Given the description of an element on the screen output the (x, y) to click on. 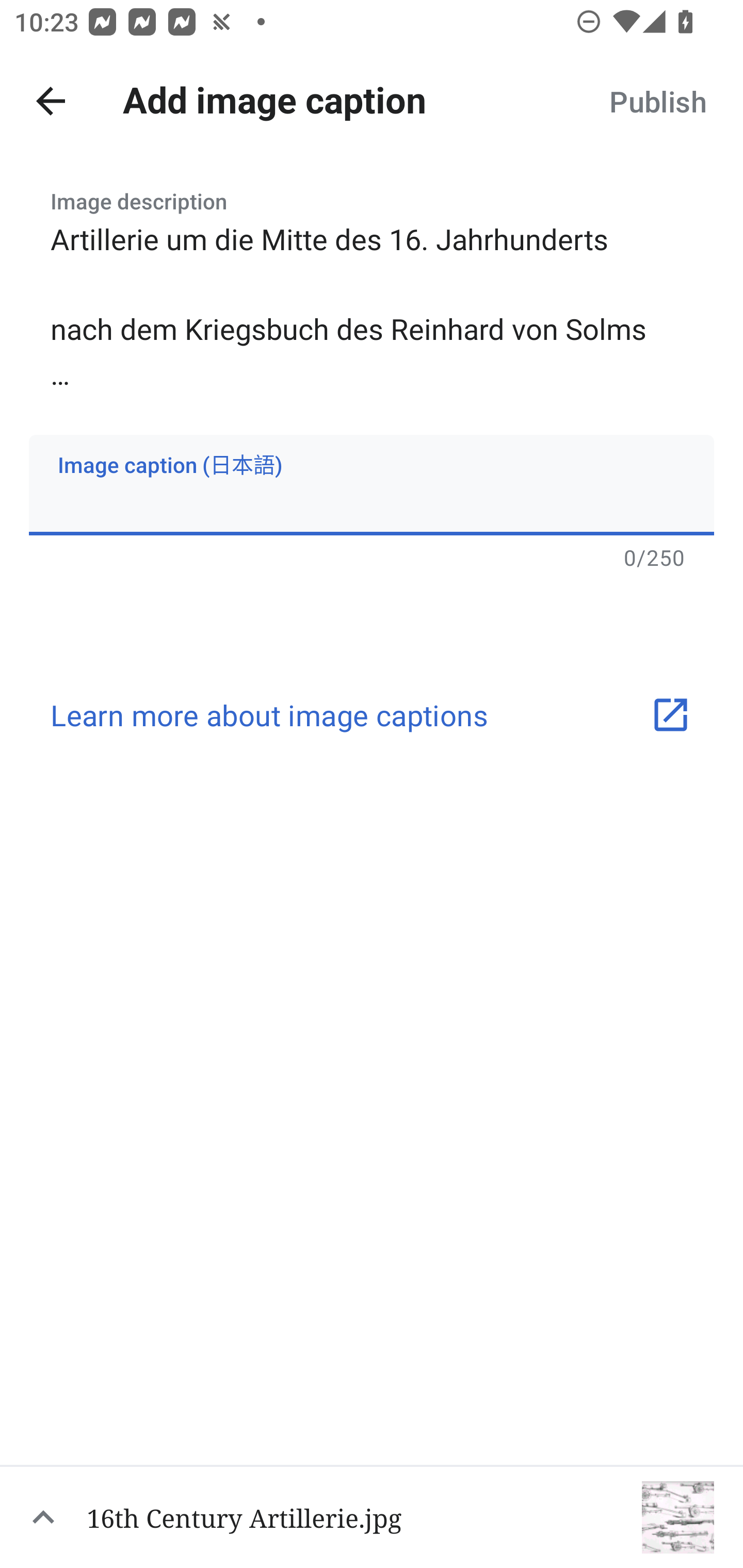
Cancel (50, 101)
Publish (657, 101)
Image caption (日本語) (371, 484)
Learn more about image captions (371, 714)
16th Century Artillerie.jpg (371, 1516)
